Given the description of an element on the screen output the (x, y) to click on. 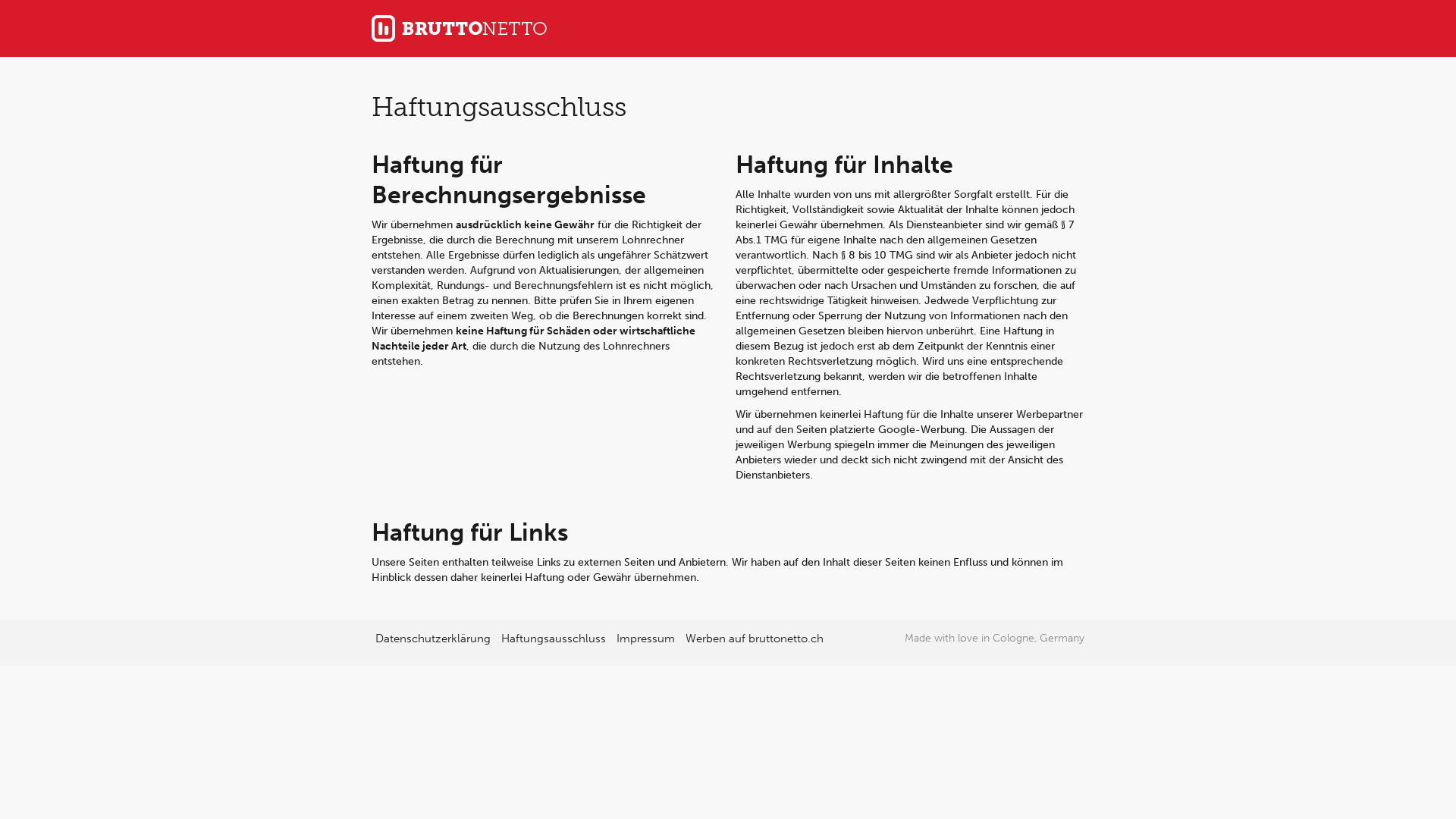
Impressum Element type: text (645, 638)
Haftungsausschluss Element type: text (553, 638)
Werben auf bruttonetto.ch Element type: text (754, 638)
bruttonetto.ch Element type: hover (458, 28)
